Given the description of an element on the screen output the (x, y) to click on. 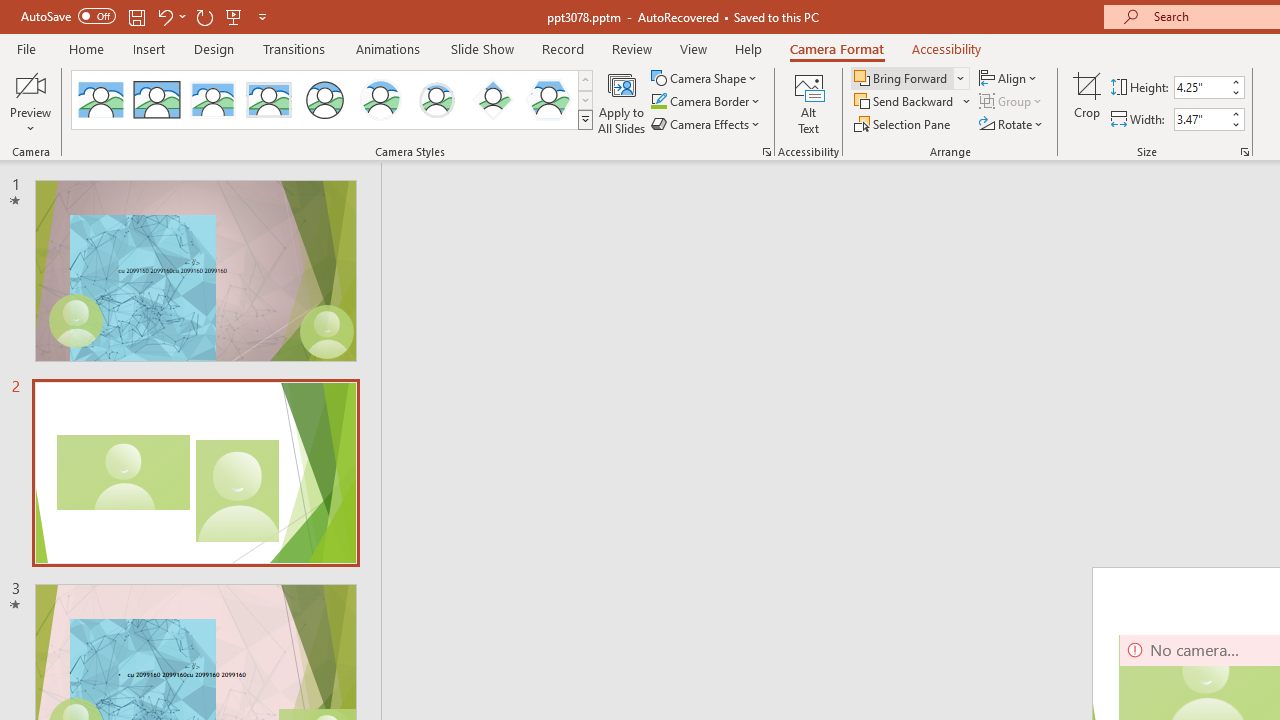
Bring Forward (910, 78)
Cameo Height (1201, 87)
